Given the description of an element on the screen output the (x, y) to click on. 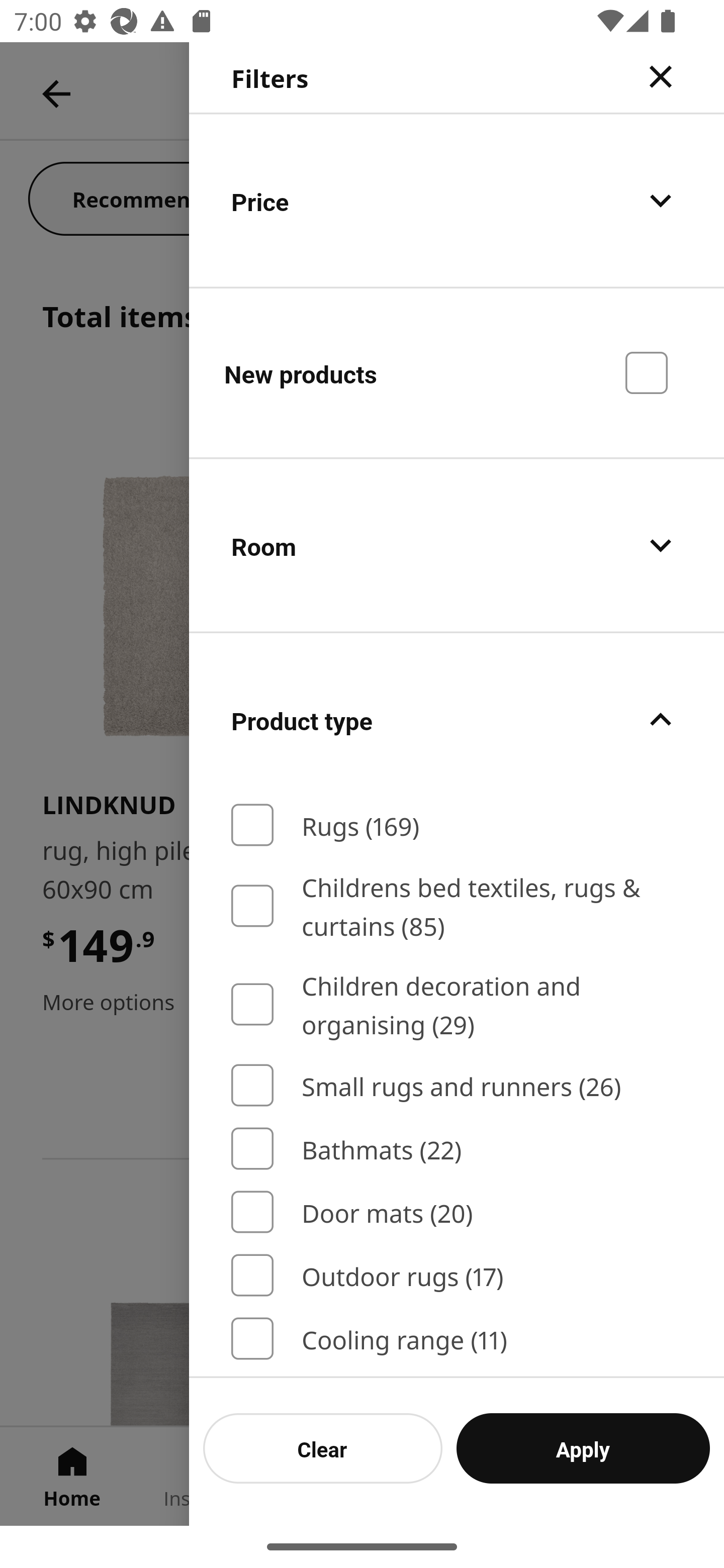
Price (456, 200)
New products (456, 371)
Room (456, 545)
Product type (456, 719)
Rugs (169) (456, 825)
Childrens bed textiles, rugs & curtains (85) (456, 906)
Children decoration and organising (29) (456, 1003)
Small rugs and runners (26) (456, 1085)
Bathmats (22) (456, 1148)
Door mats (20) (456, 1212)
Outdoor rugs (17) (456, 1275)
Cooling range (11) (456, 1338)
Clear (322, 1447)
Apply (583, 1447)
